Given the description of an element on the screen output the (x, y) to click on. 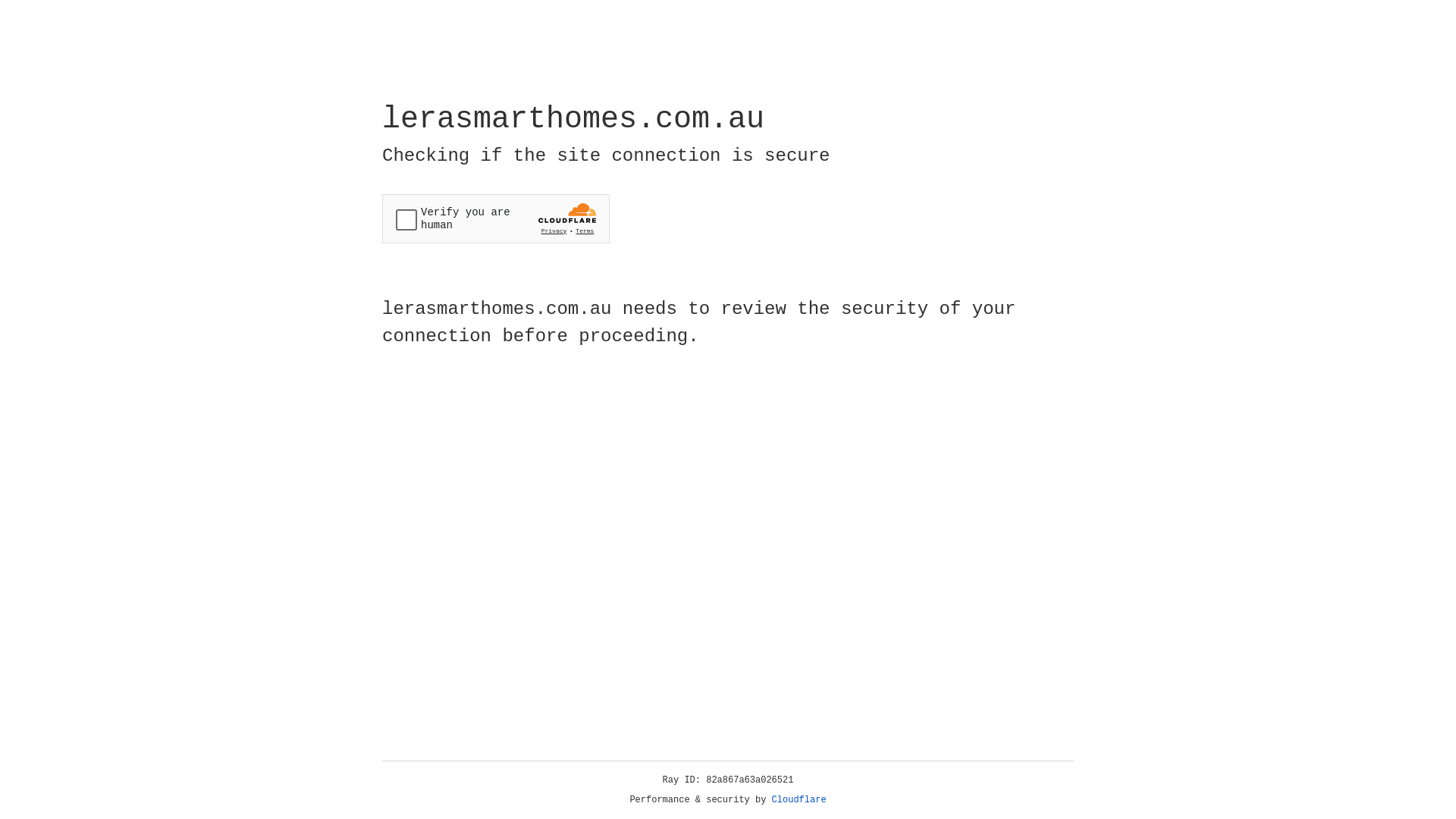
Widget containing a Cloudflare security challenge Element type: hover (495, 218)
Cloudflare Element type: text (798, 799)
